Given the description of an element on the screen output the (x, y) to click on. 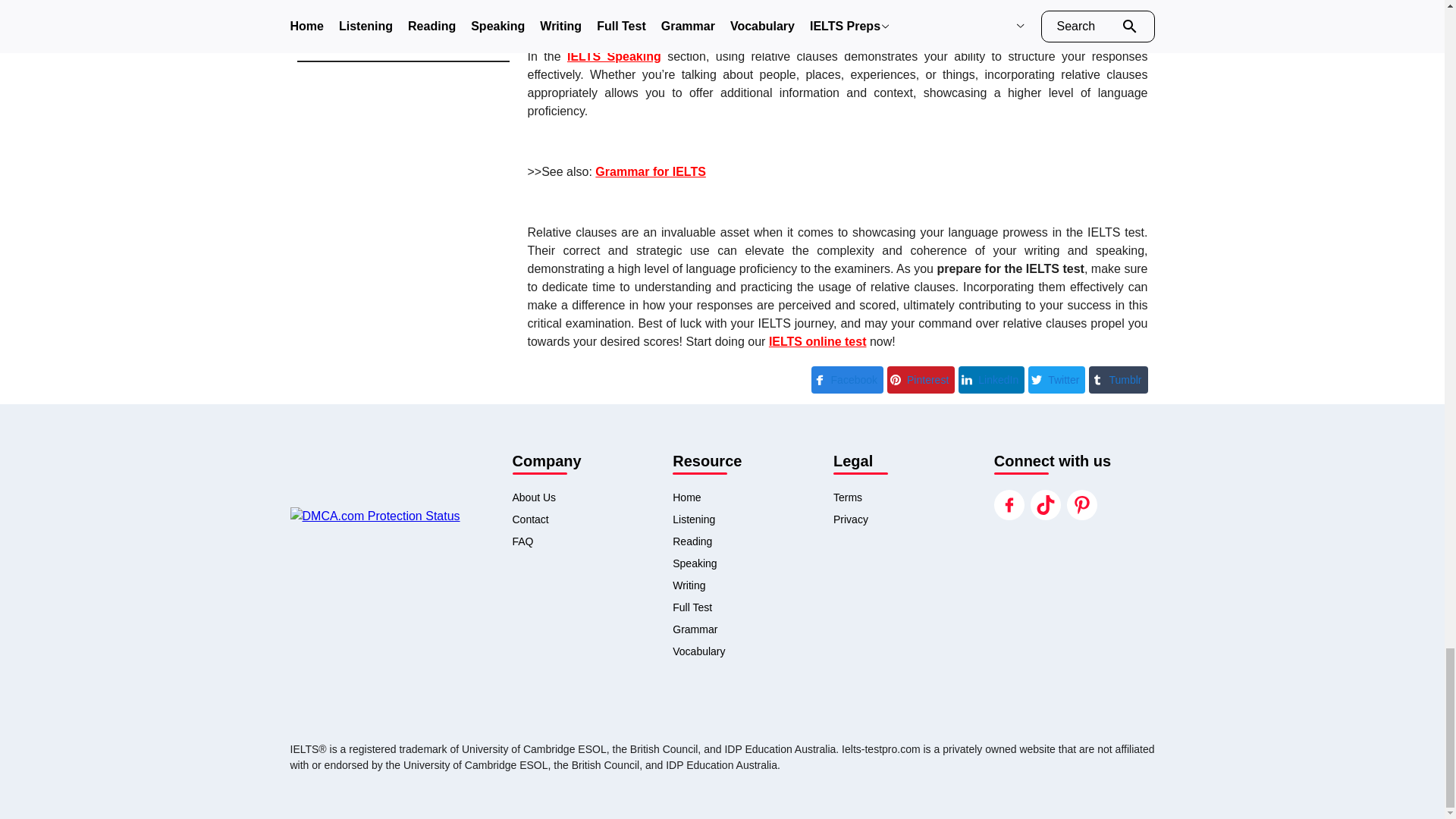
Grammar for IELTS (650, 171)
Pinterest (920, 377)
Facebook (846, 379)
Share on LinkedIn (991, 377)
Share on Tumblr (1118, 377)
About Us (592, 497)
Pinterest (920, 379)
LinkedIn (991, 377)
IELTS online test (817, 341)
Tumblr (1118, 377)
Facebook (846, 377)
Twitter (1055, 377)
Twitter (1055, 379)
Share on Facebook (846, 377)
Tumblr (1118, 379)
